Given the description of an element on the screen output the (x, y) to click on. 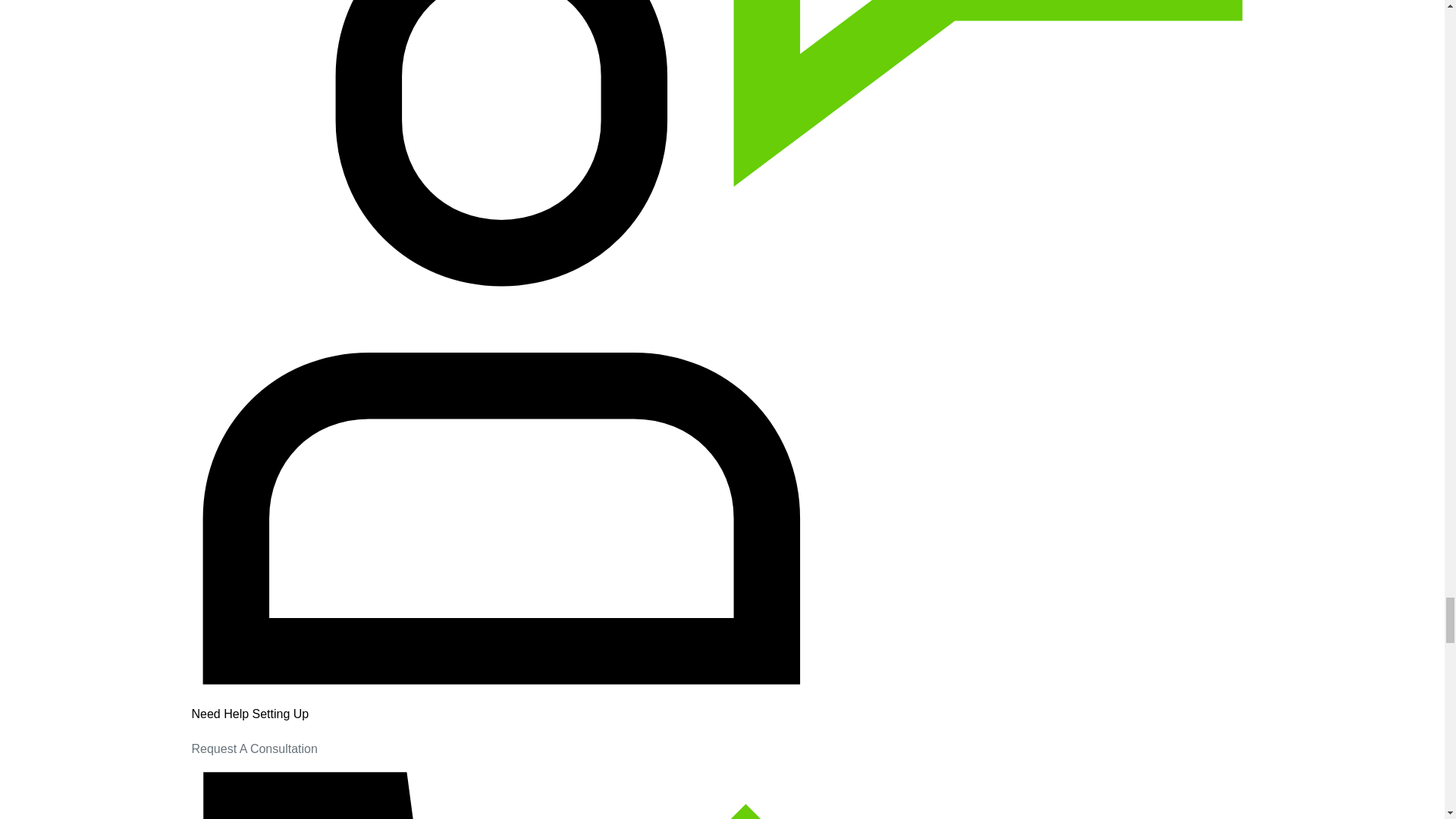
Request A Consultation (253, 748)
